Given the description of an element on the screen output the (x, y) to click on. 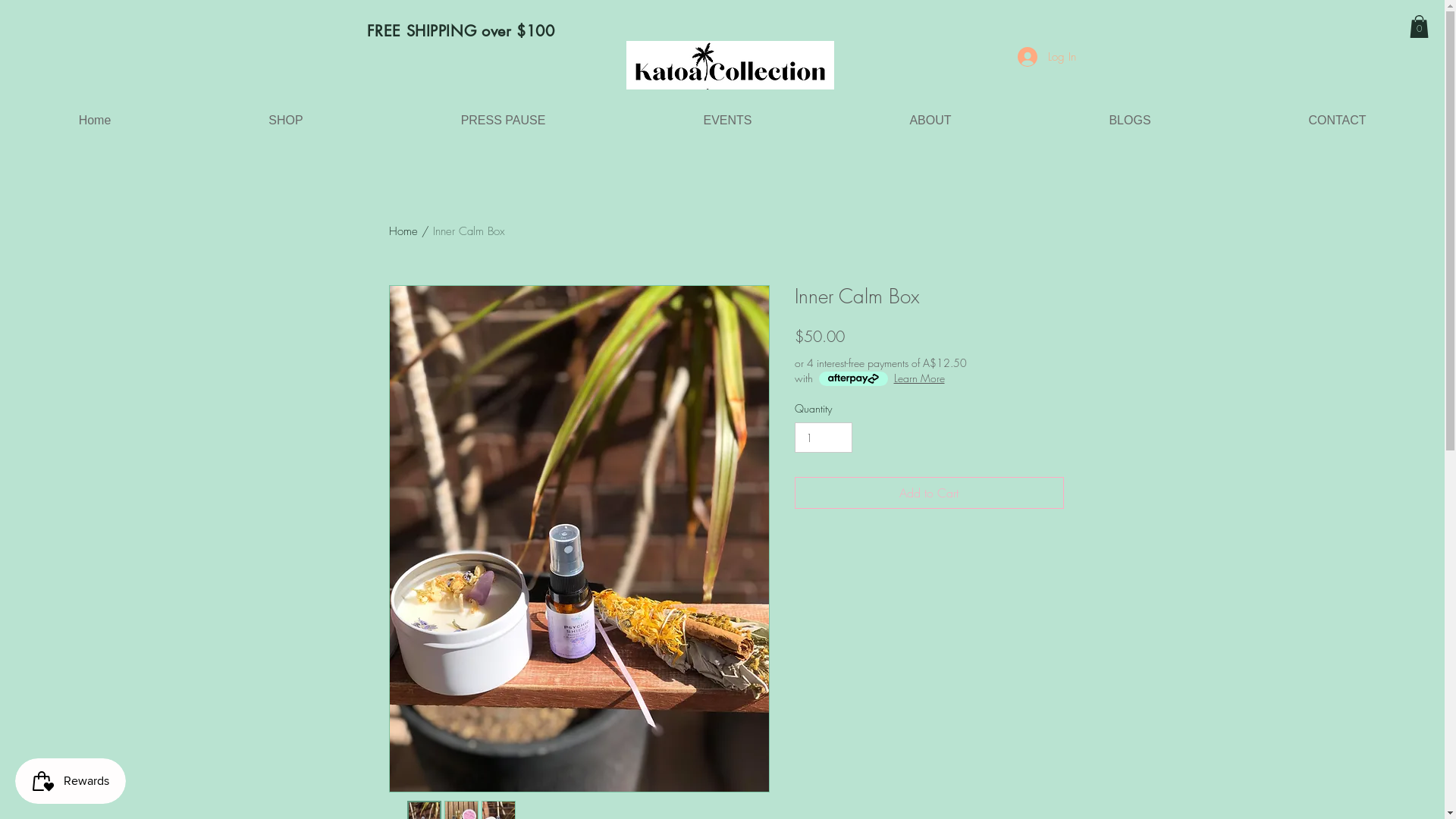
Log In Element type: text (1046, 56)
SHOP Element type: text (285, 119)
0 Element type: text (1418, 26)
CONTACT Element type: text (1337, 119)
PRESS PAUSE Element type: text (503, 119)
BLOGS Element type: text (1129, 119)
Add to Cart Element type: text (928, 492)
katoa png logo.png Element type: hover (730, 64)
EVENTS Element type: text (727, 119)
Home Element type: text (94, 119)
Inner Calm Box Element type: text (468, 230)
ABOUT Element type: text (930, 119)
Learn More Element type: text (918, 377)
Smile.io Rewards Program Launcher Element type: hover (70, 780)
Home Element type: text (402, 230)
